Given the description of an element on the screen output the (x, y) to click on. 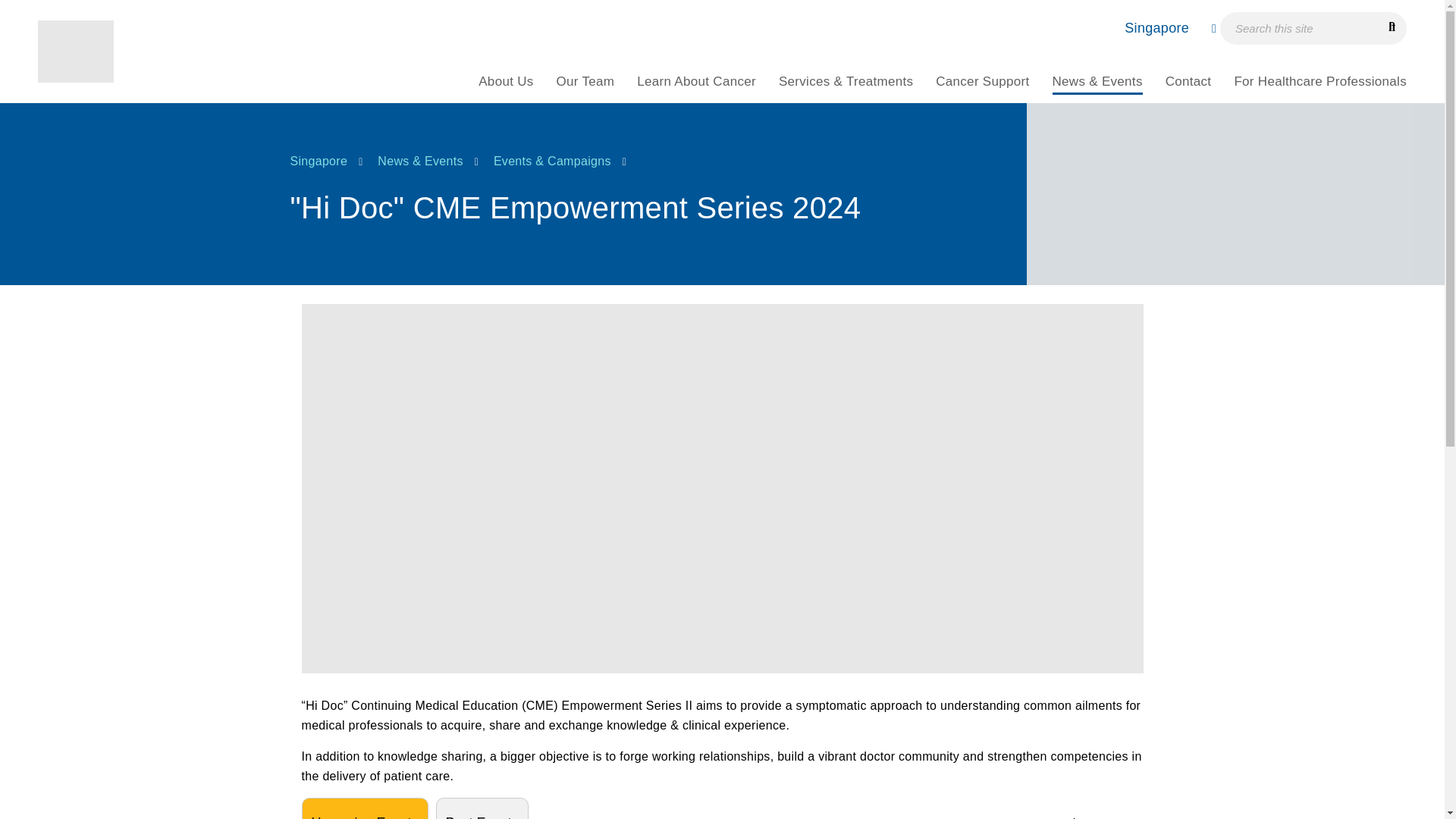
Singapore (1163, 28)
